Given the description of an element on the screen output the (x, y) to click on. 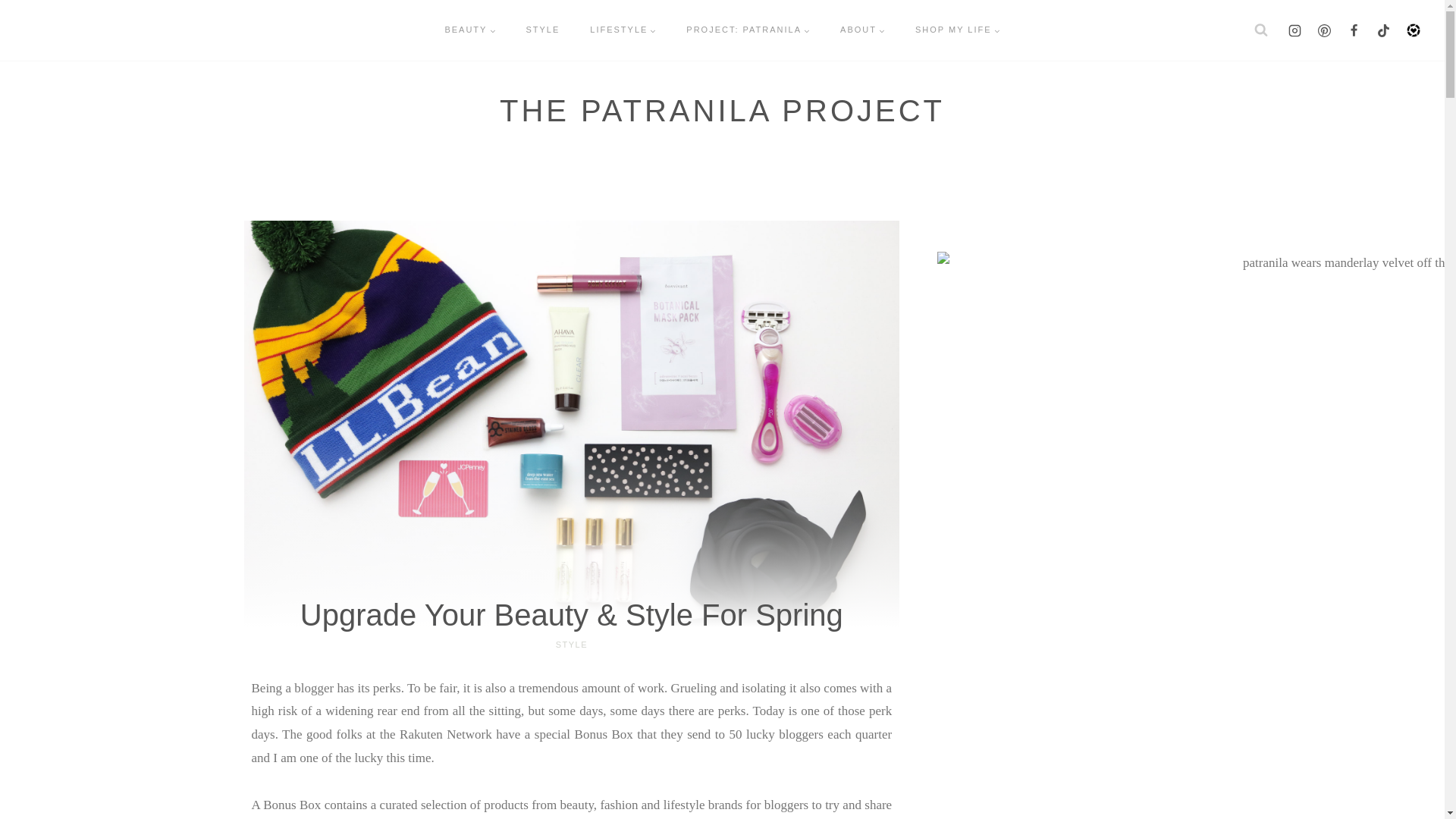
PROJECT: PATRANILA (748, 30)
LIFESTYLE (623, 30)
SHOP MY LIFE (956, 30)
ABOUT (862, 30)
BEAUTY (470, 30)
STYLE (572, 644)
STYLE (543, 30)
THE PATRANILA PROJECT (721, 110)
